Given the description of an element on the screen output the (x, y) to click on. 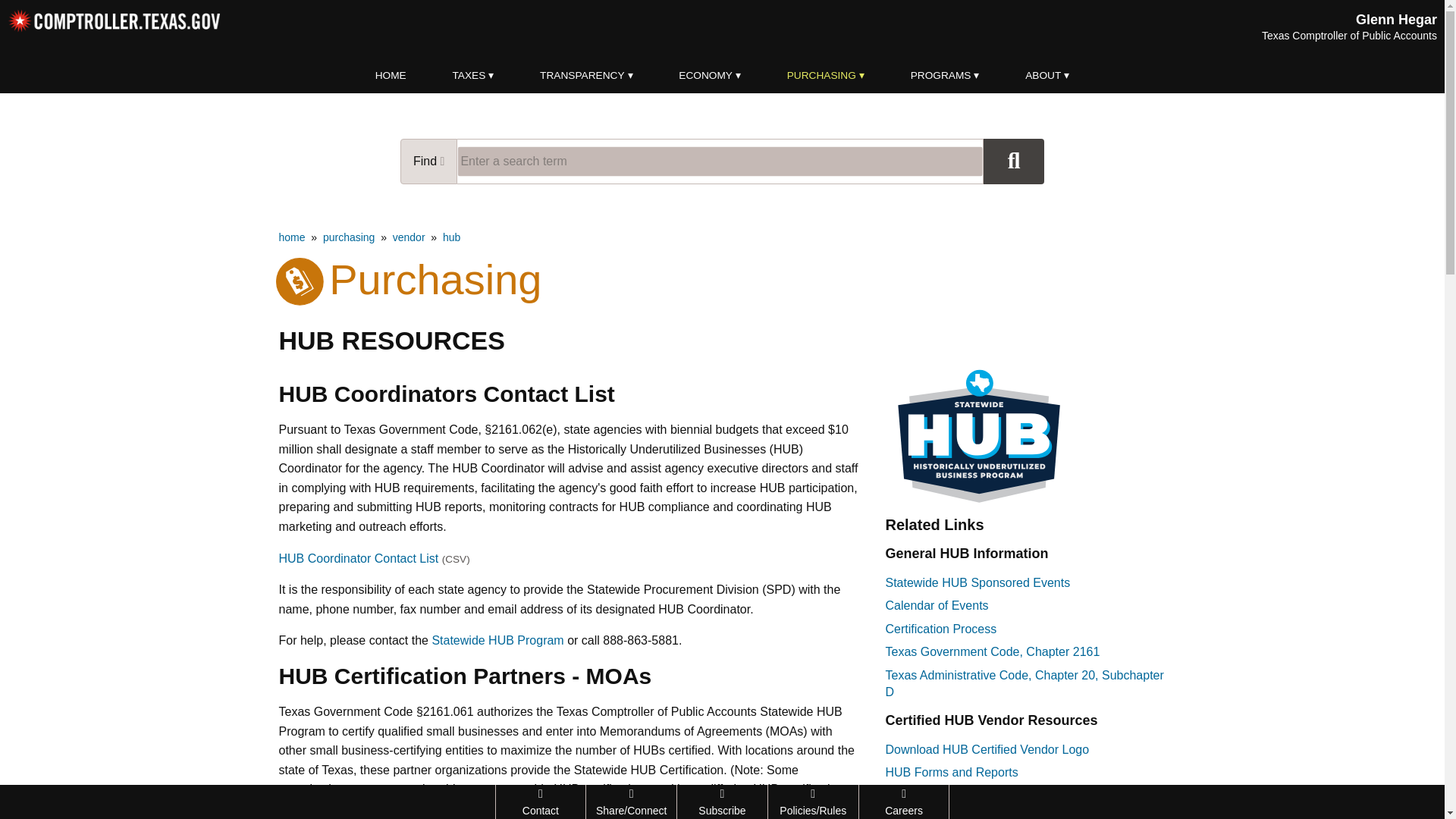
purchasing (349, 236)
vendor (409, 236)
hub (451, 236)
HOME (390, 75)
home (292, 236)
TAXES (472, 75)
